Given the description of an element on the screen output the (x, y) to click on. 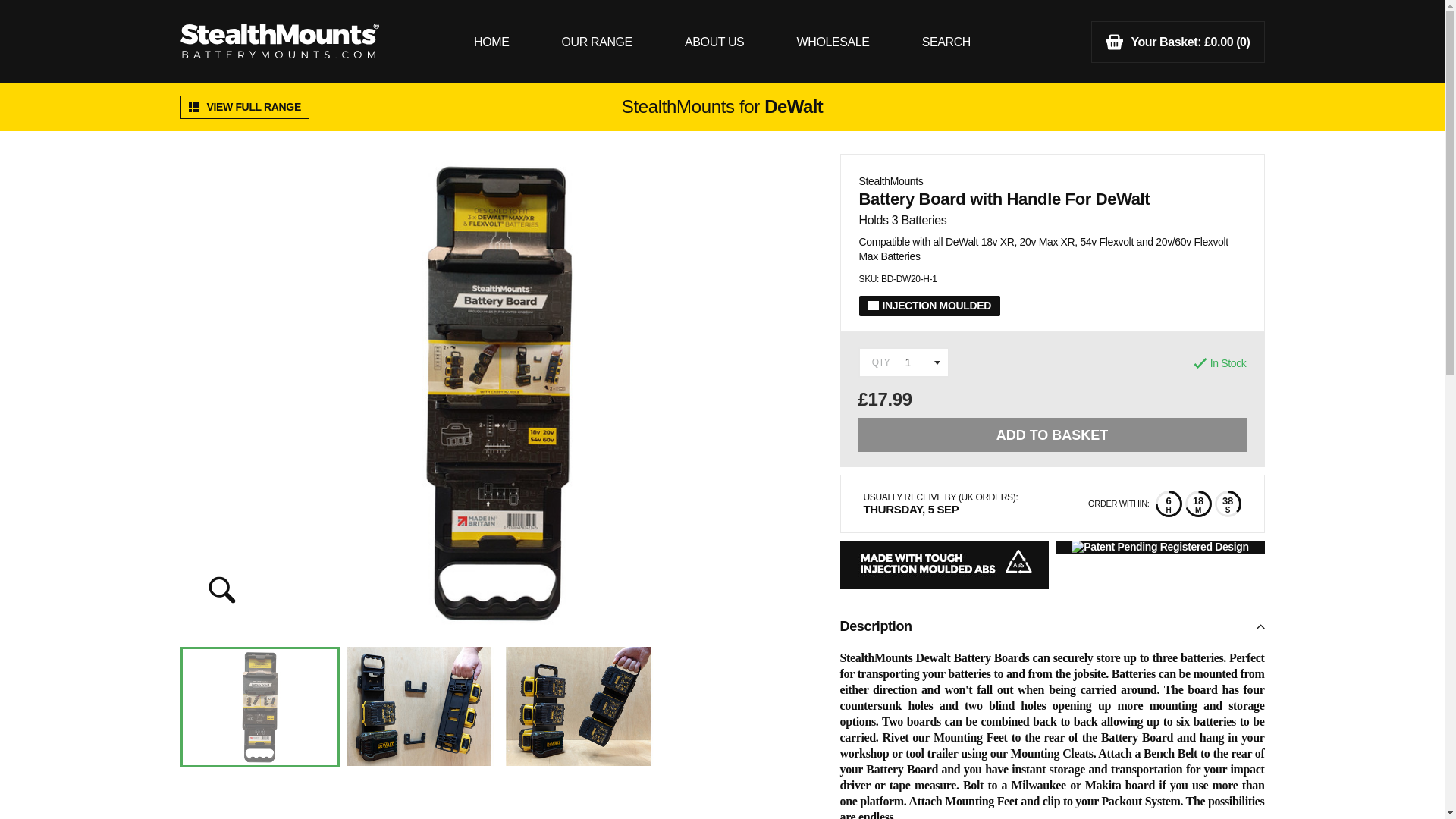
ABOUT US (714, 42)
DeWalt (793, 106)
ADD TO BASKET (1052, 434)
WHOLESALE (832, 42)
1 (903, 361)
OUR RANGE (596, 42)
VIEW FULL RANGE (244, 106)
HOME (491, 42)
SEARCH (946, 42)
